Given the description of an element on the screen output the (x, y) to click on. 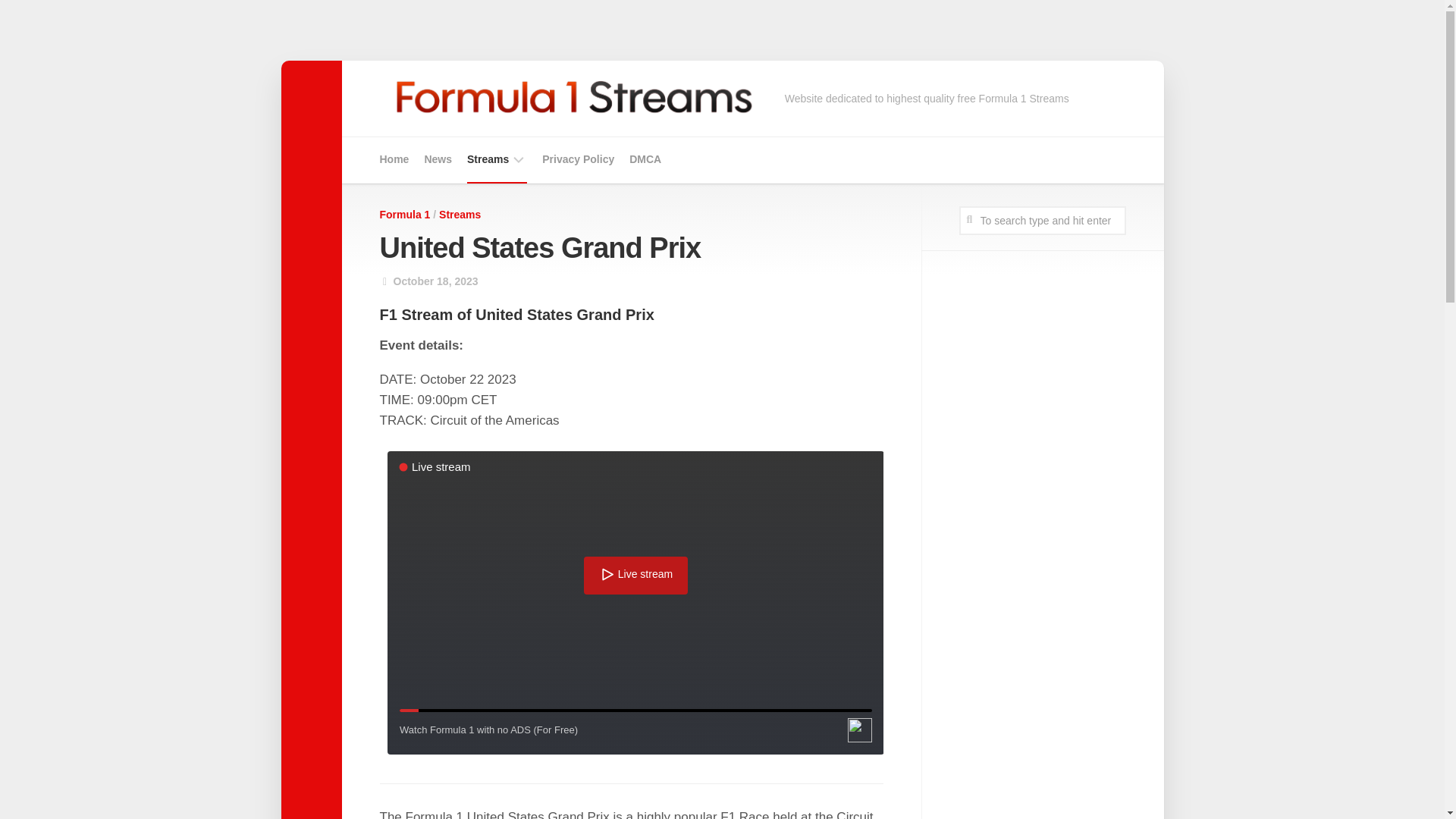
Formula 1 (403, 214)
Privacy Policy (577, 159)
DMCA (644, 159)
Home (393, 159)
To search type and hit enter (1041, 220)
To search type and hit enter (1041, 220)
Streams (487, 159)
News (437, 159)
Streams (459, 214)
